Given the description of an element on the screen output the (x, y) to click on. 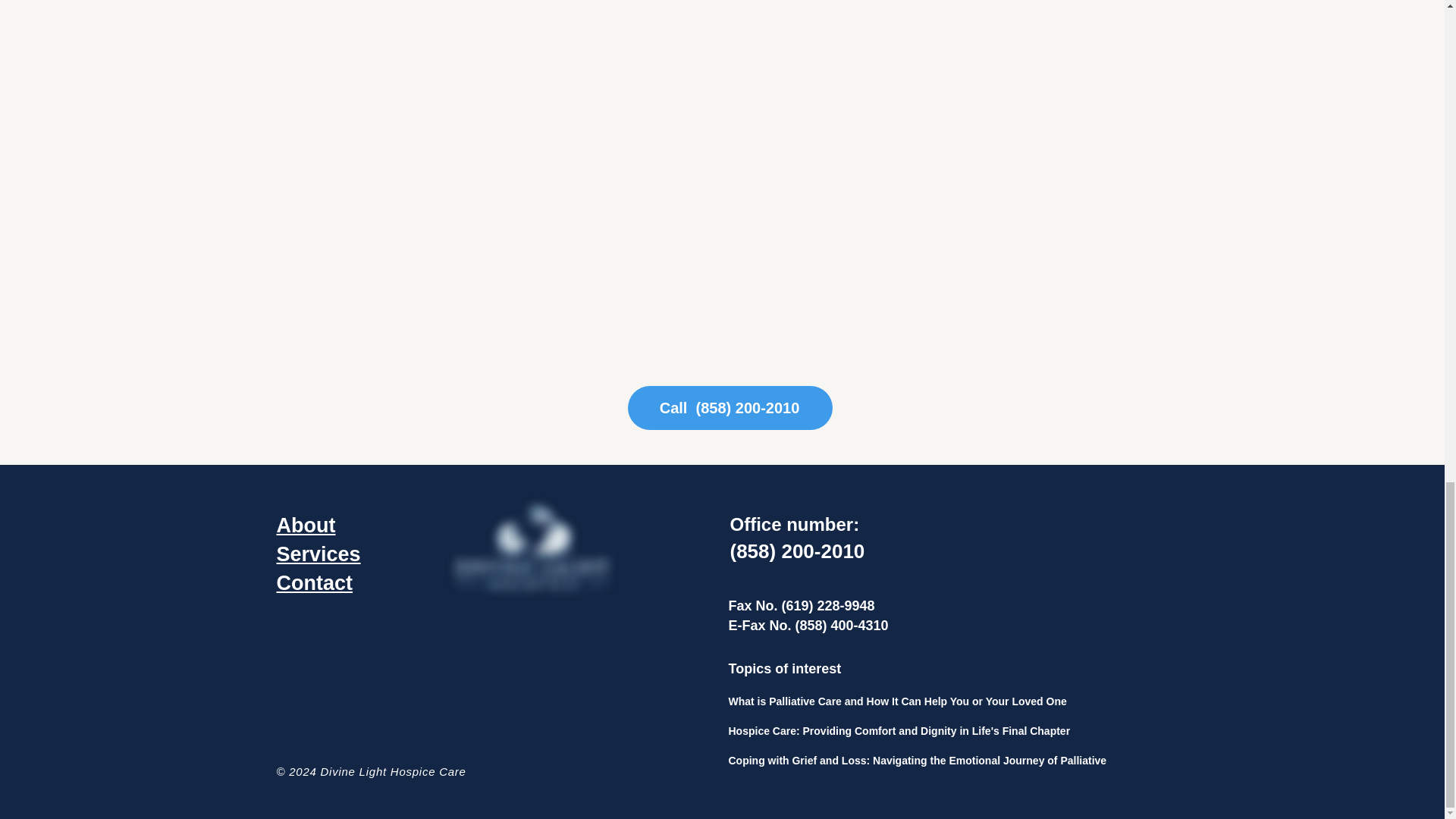
About (305, 525)
Services (317, 553)
Contact (314, 582)
